Given the description of an element on the screen output the (x, y) to click on. 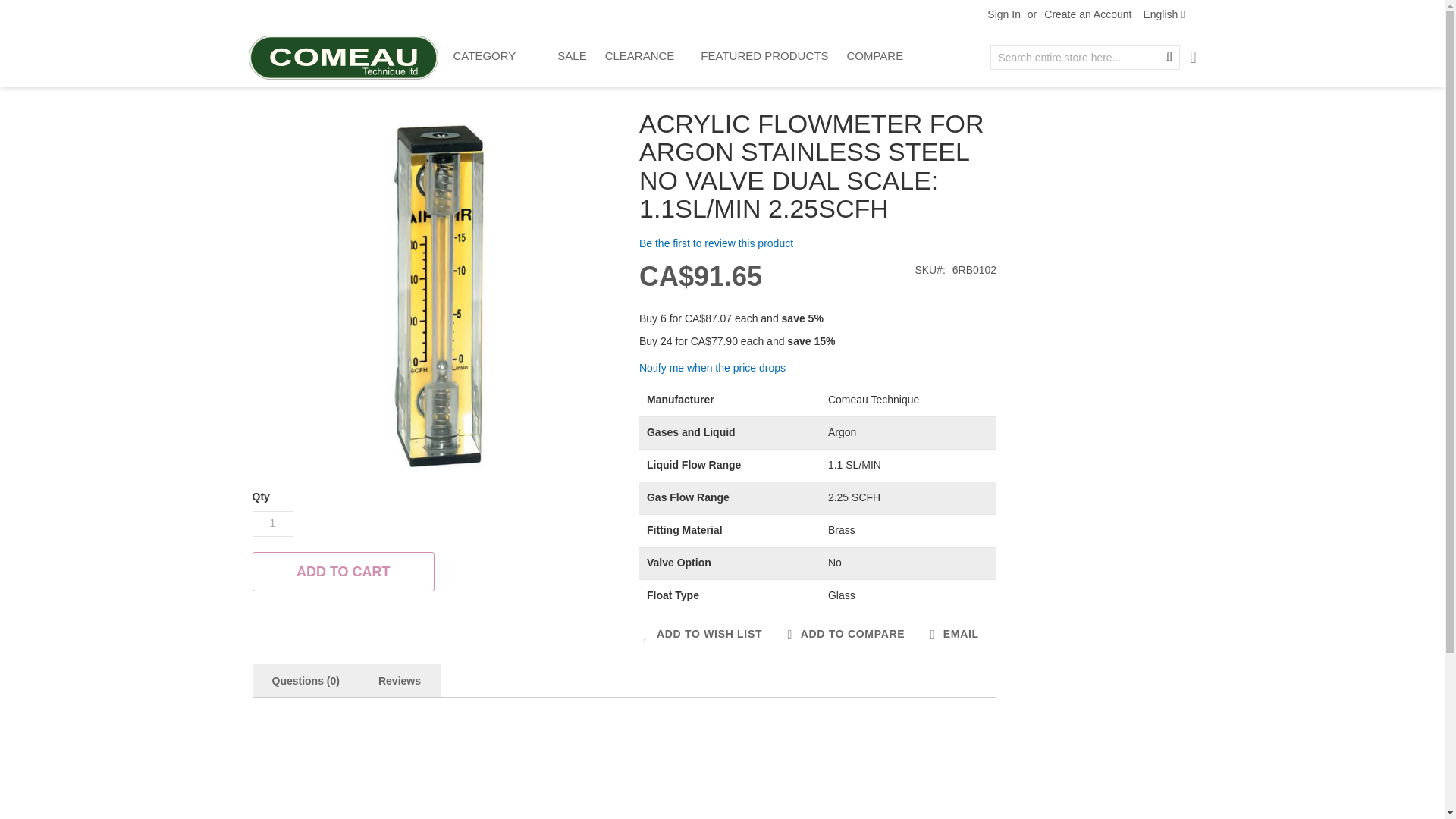
Qty (271, 524)
CATEGORY (489, 55)
Add to Cart (342, 571)
Notify me when the price drops (712, 367)
1 (271, 524)
Create an Account (1087, 14)
Sign In (1003, 14)
